Given the description of an element on the screen output the (x, y) to click on. 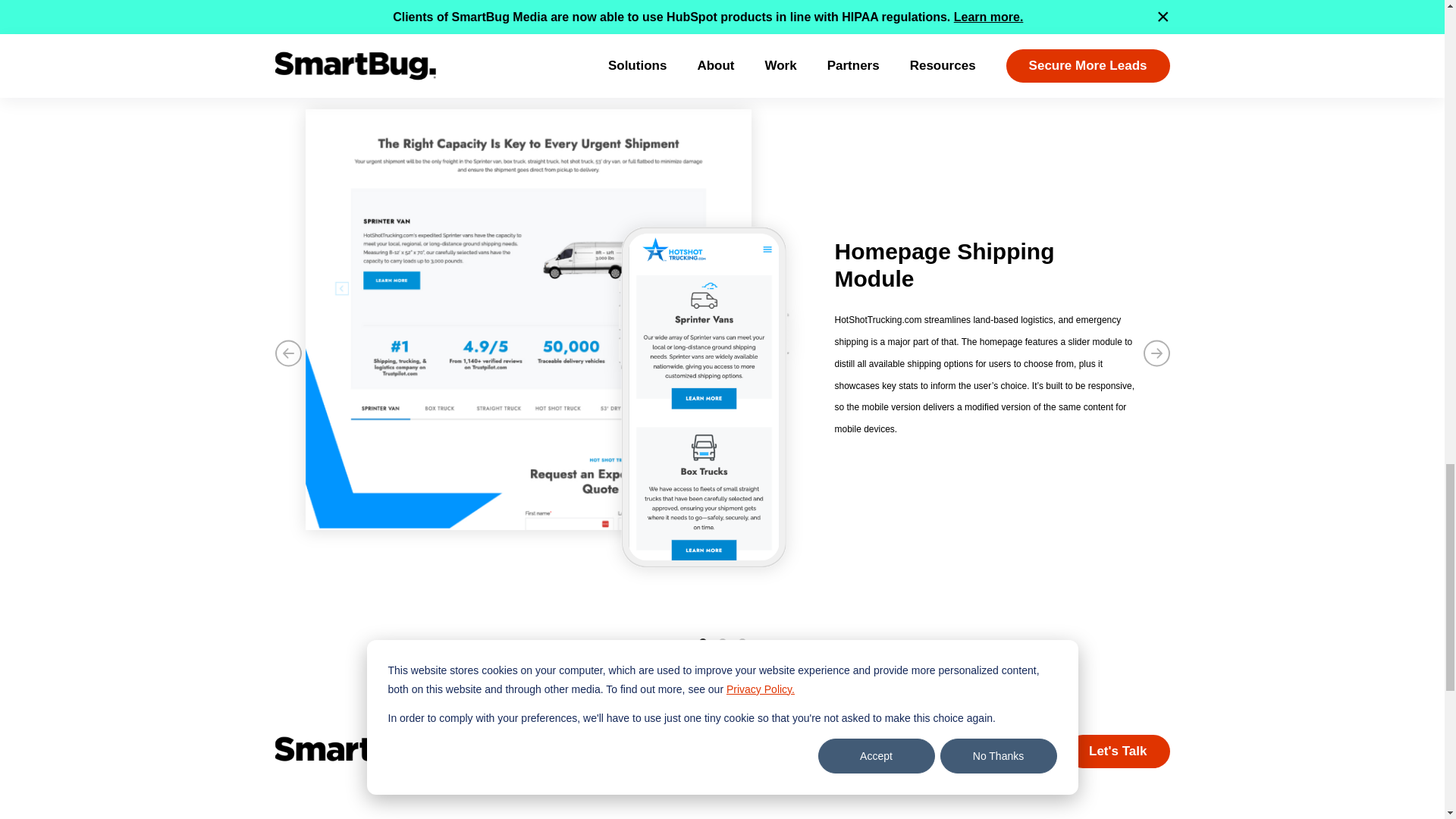
Let's Talk (1117, 751)
